Given the description of an element on the screen output the (x, y) to click on. 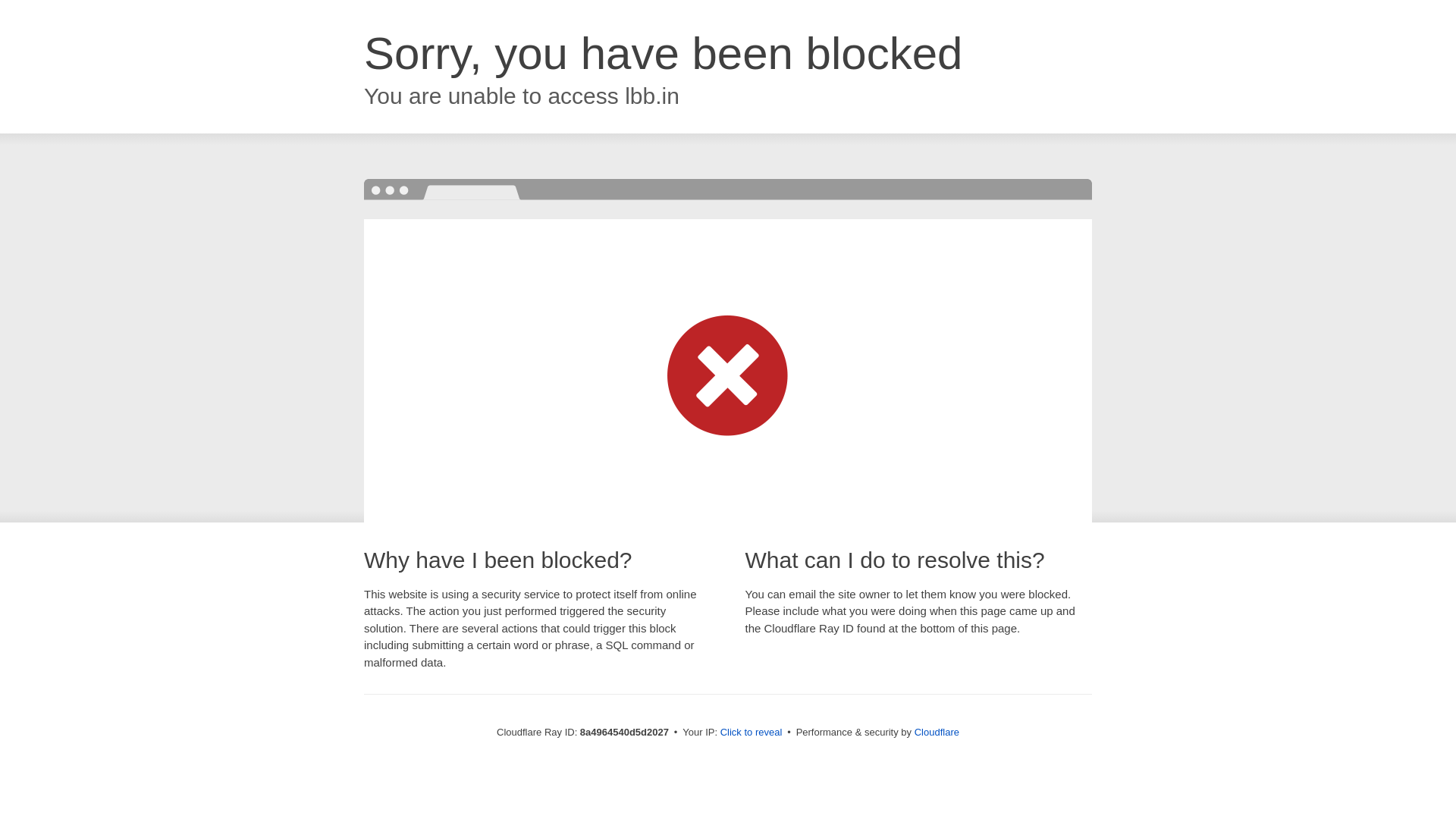
Click to reveal (751, 732)
Cloudflare (936, 731)
